Given the description of an element on the screen output the (x, y) to click on. 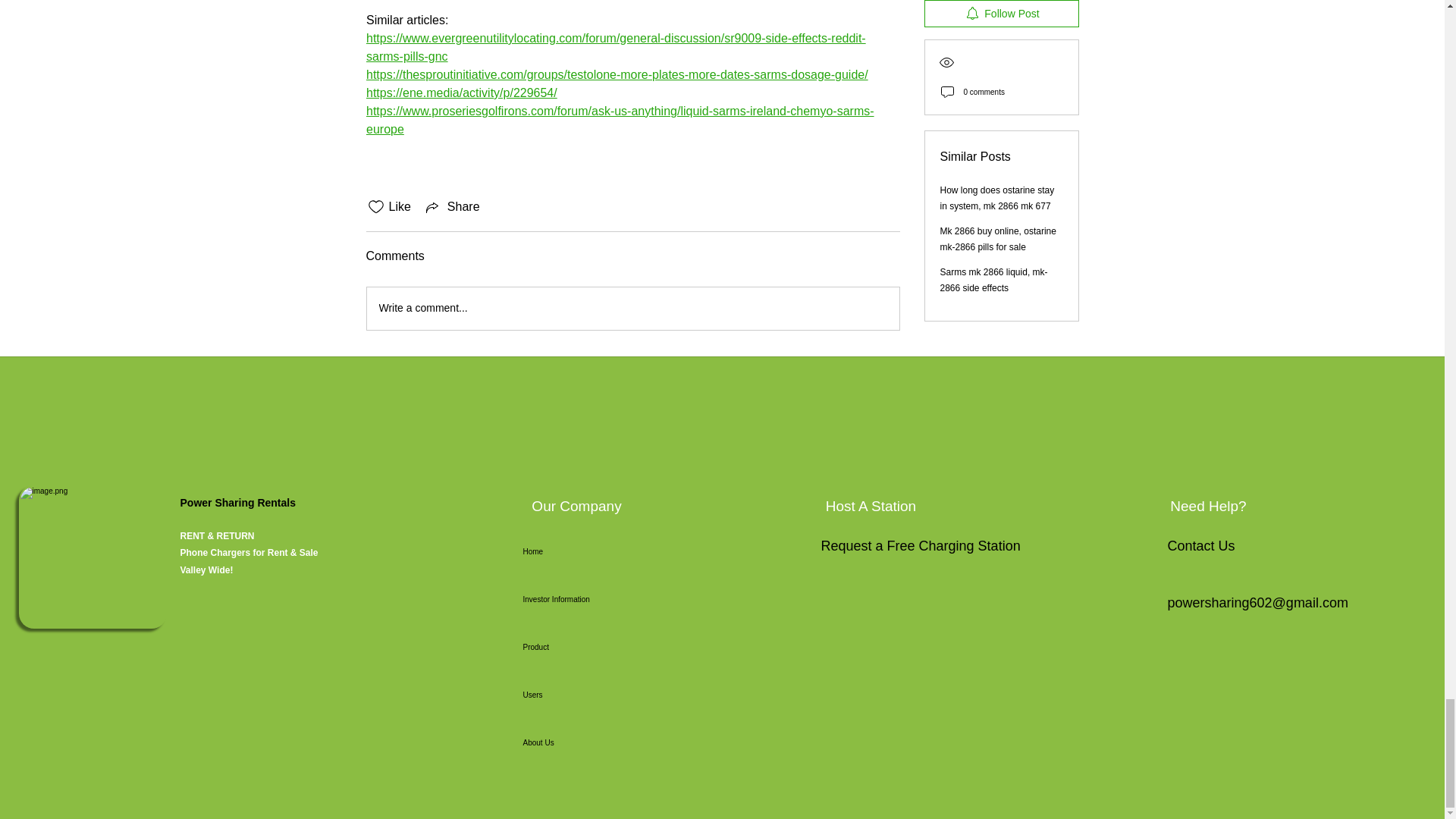
Request a Free Charging Station (920, 545)
Product (576, 646)
Users (576, 694)
Investor Information (576, 599)
Write a comment... (632, 308)
About Us (576, 742)
Share (451, 207)
Home (576, 551)
Power Sharing Rentals  (239, 502)
